Given the description of an element on the screen output the (x, y) to click on. 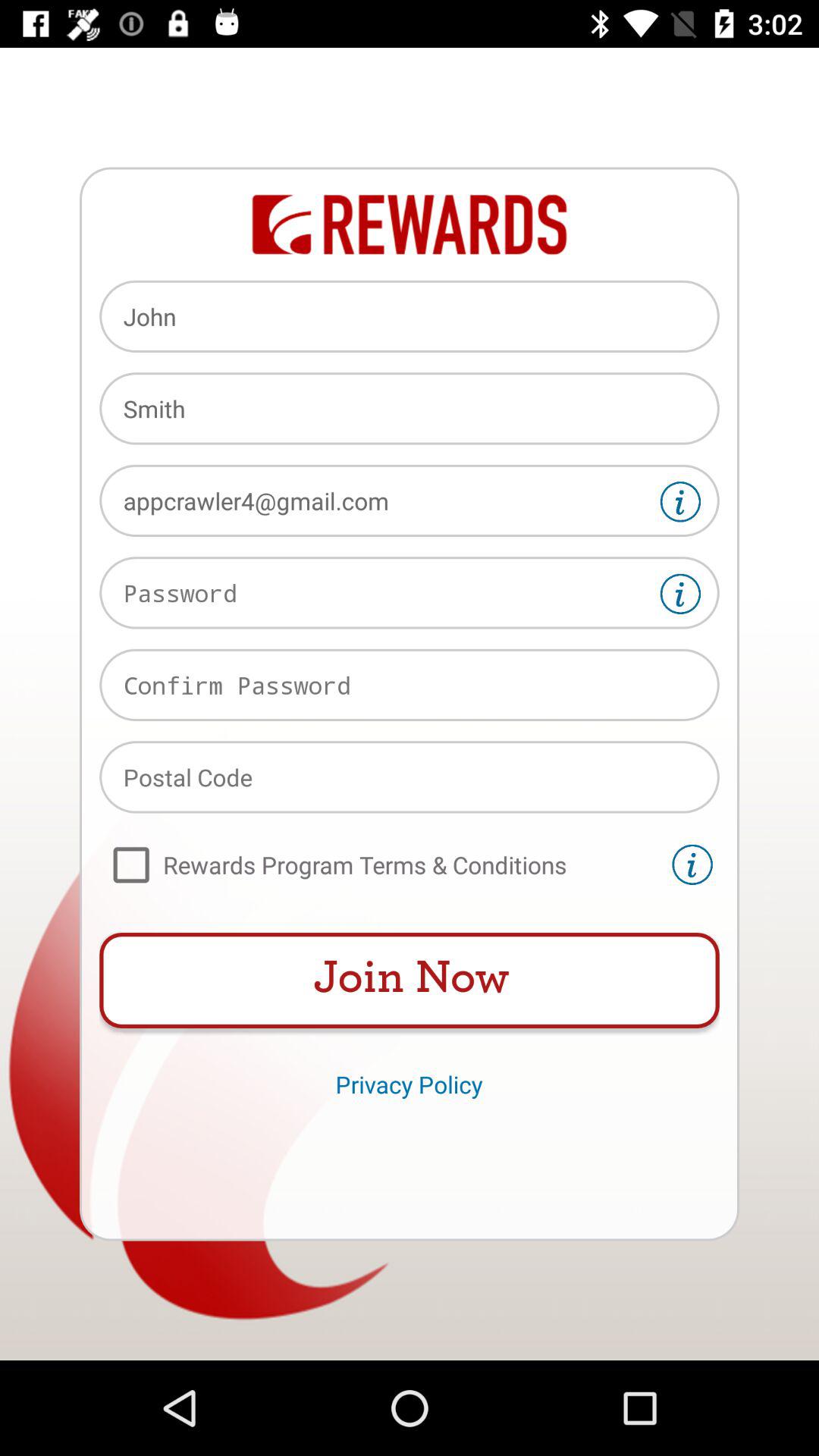
open icon below the john (409, 408)
